Given the description of an element on the screen output the (x, y) to click on. 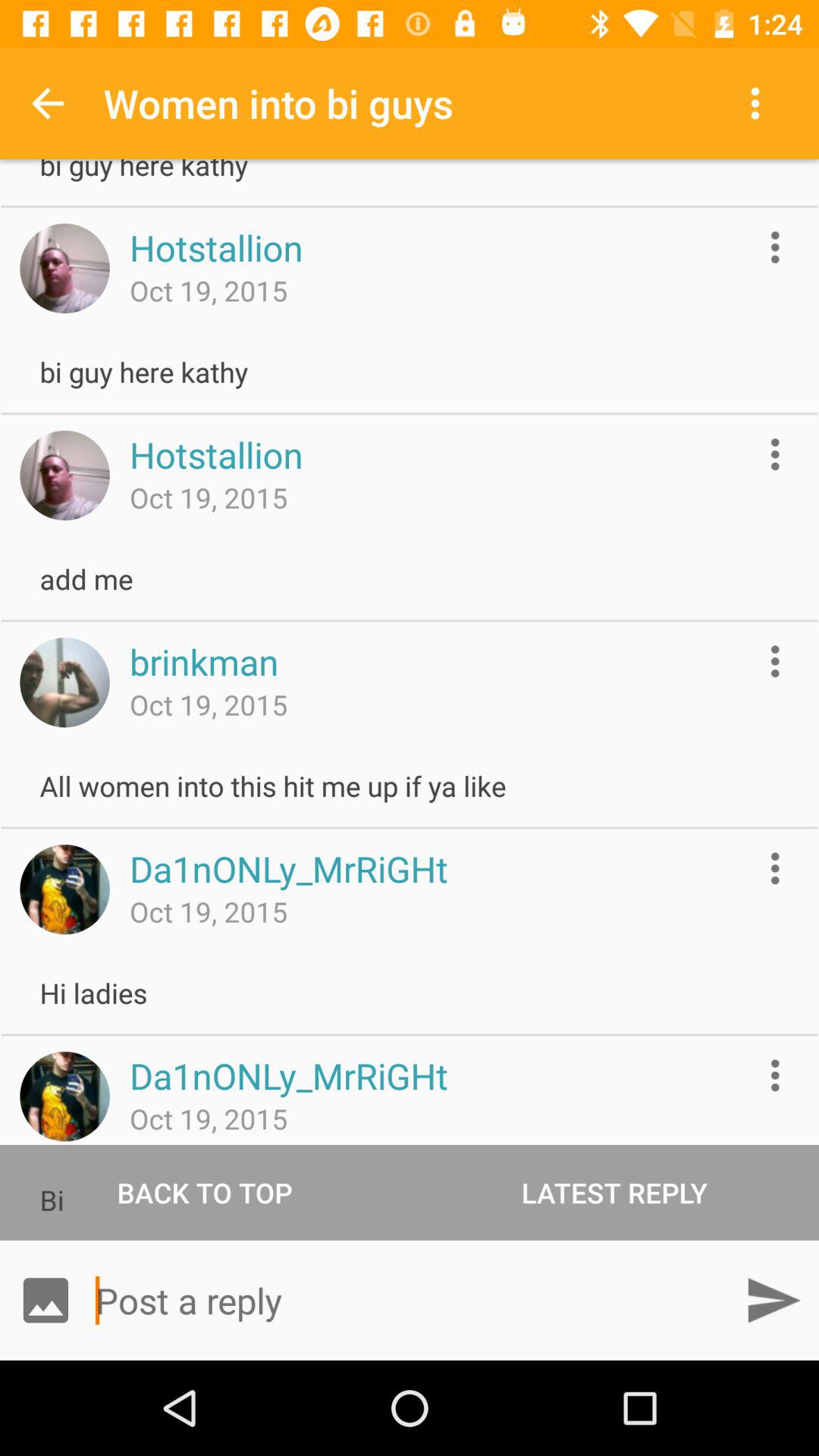
user profile selection (64, 1096)
